Given the description of an element on the screen output the (x, y) to click on. 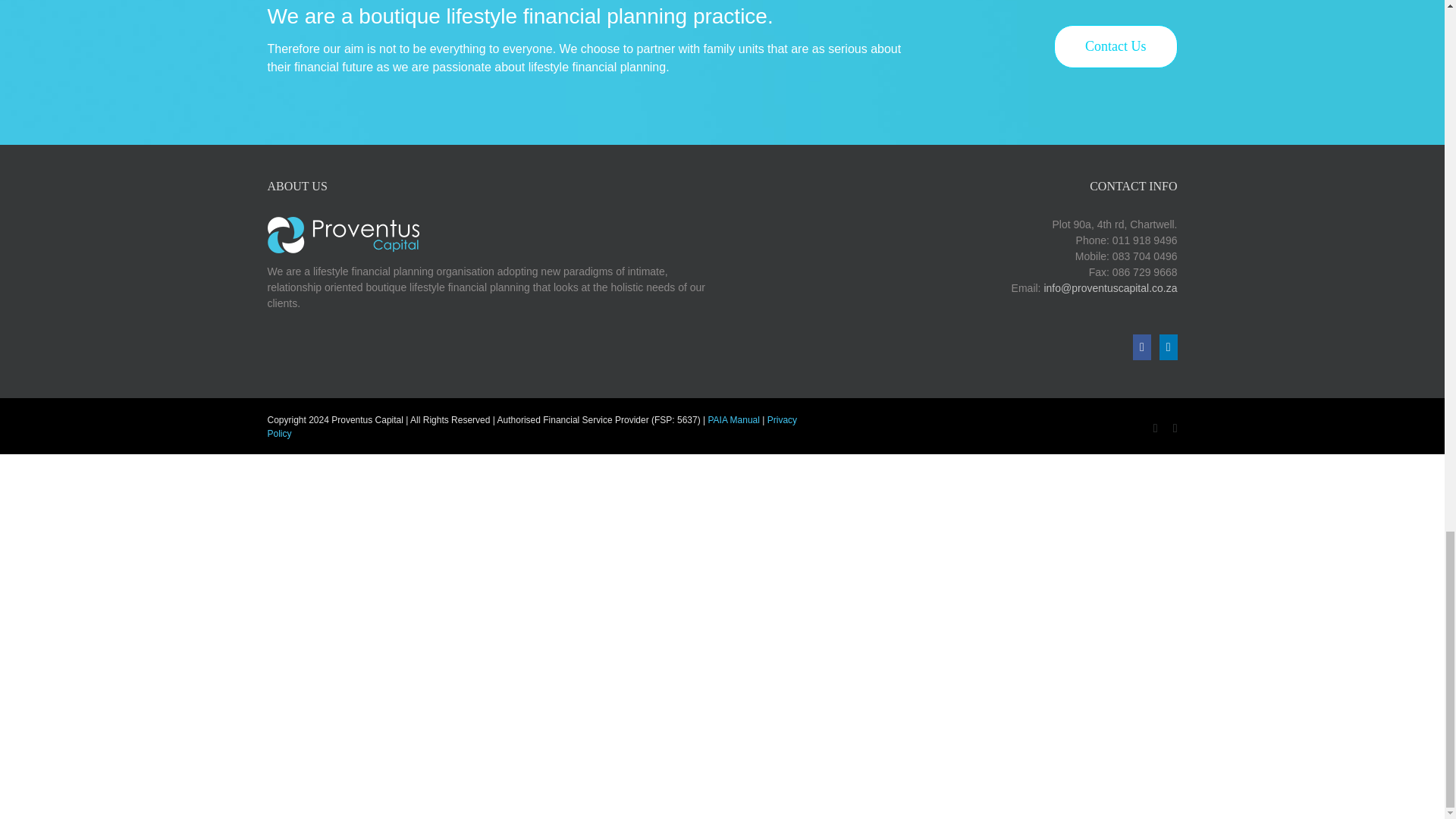
facebook (1155, 428)
Contact Us (1115, 46)
linkedin (1175, 428)
Privacy Policy (531, 426)
PAIA Manual (732, 419)
